Given the description of an element on the screen output the (x, y) to click on. 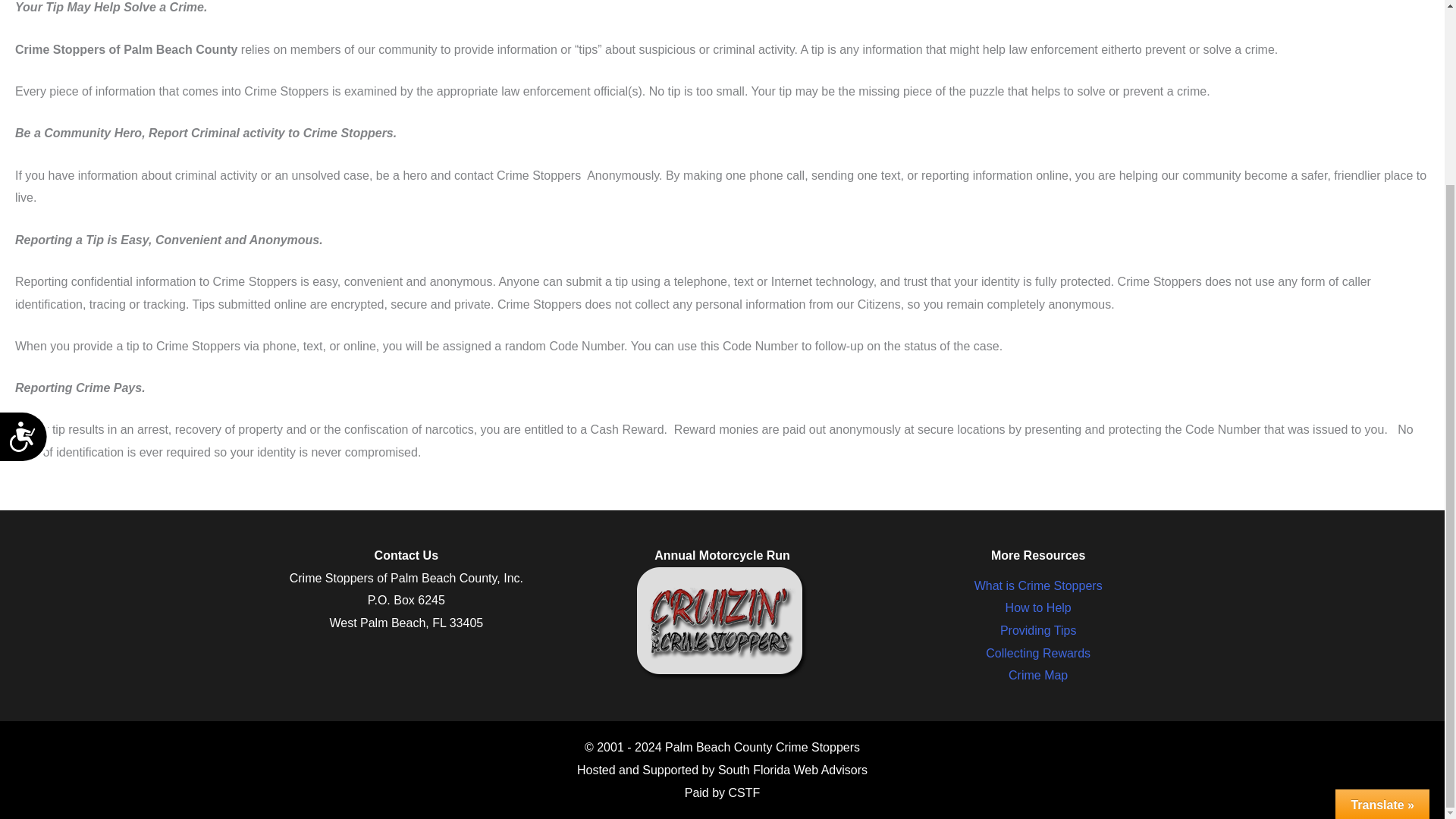
Accessibility (31, 214)
